Given the description of an element on the screen output the (x, y) to click on. 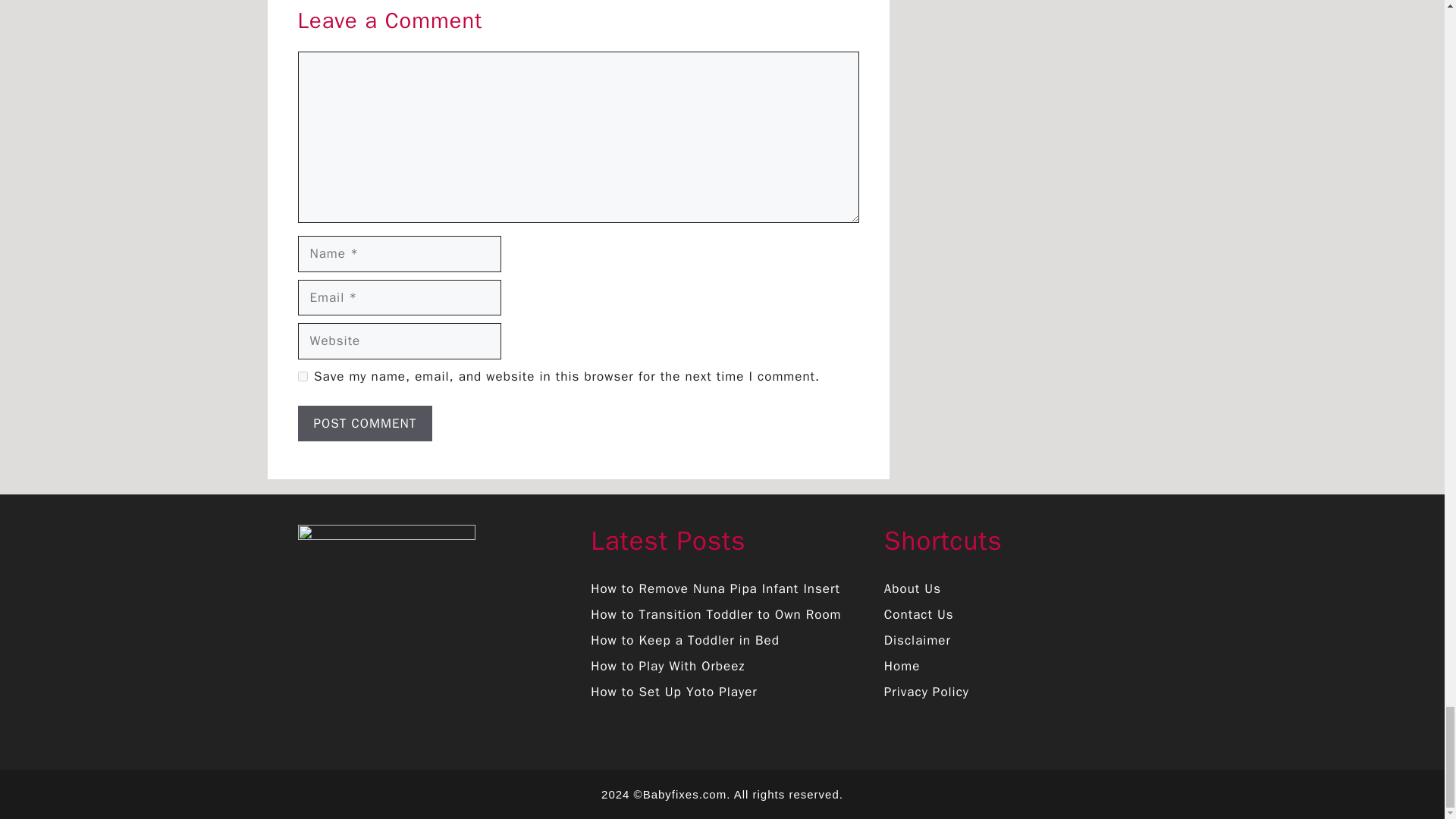
How to Set Up Yoto Player (674, 691)
About Us (911, 588)
How to Keep a Toddler in Bed (684, 640)
Contact Us (918, 614)
Disclaimer (916, 640)
Post Comment (364, 423)
yes (302, 376)
How to Transition Toddler to Own Room (716, 614)
Post Comment (364, 423)
Home (901, 666)
